Given the description of an element on the screen output the (x, y) to click on. 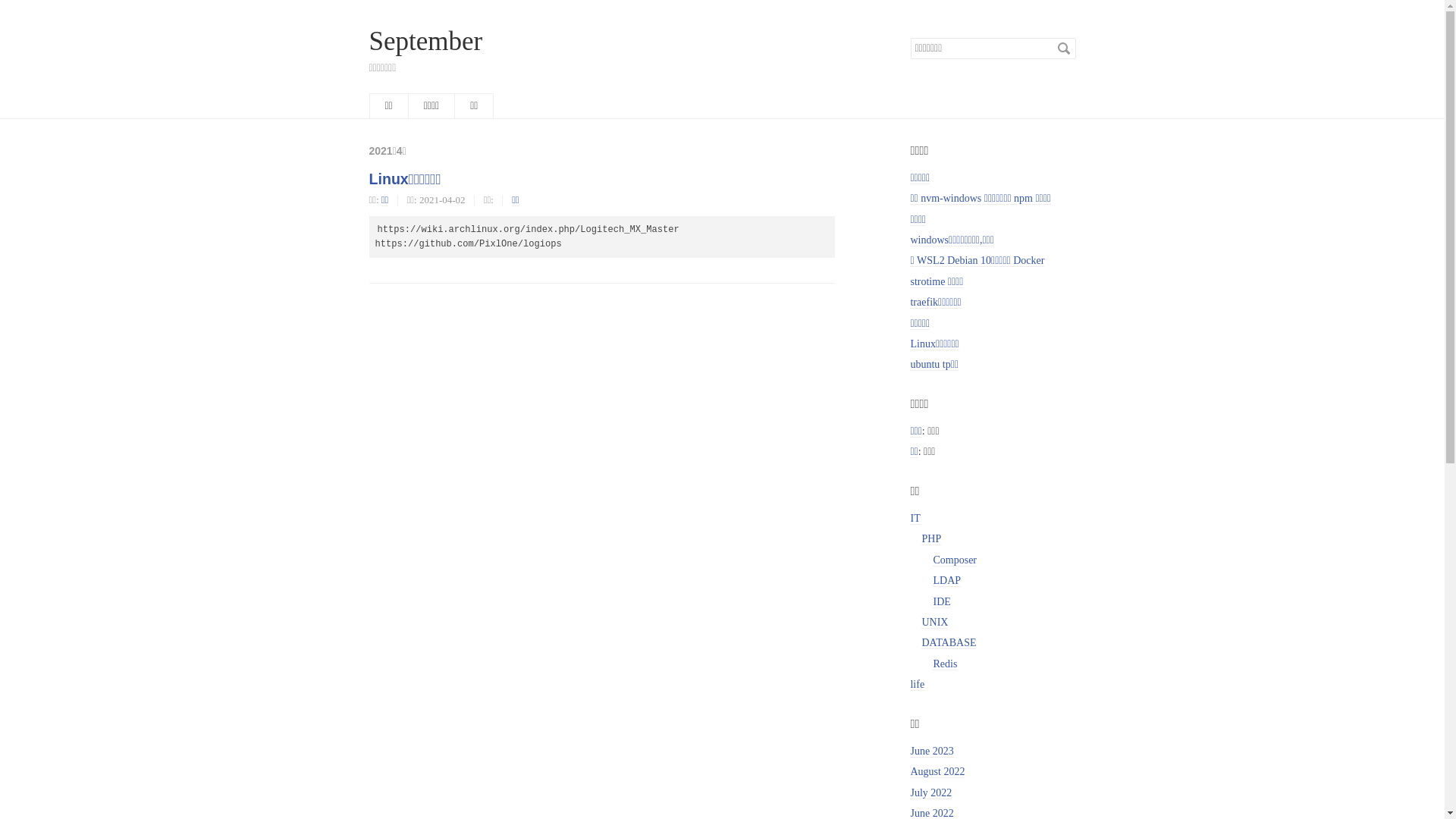
September Element type: text (425, 41)
Composer Element type: text (954, 560)
June 2023 Element type: text (931, 751)
August 2022 Element type: text (937, 771)
LDAP Element type: text (946, 580)
IT Element type: text (914, 518)
life Element type: text (917, 684)
IDE Element type: text (941, 602)
July 2022 Element type: text (930, 793)
Redis Element type: text (944, 664)
DATABASE Element type: text (948, 643)
UNIX Element type: text (934, 622)
PHP Element type: text (931, 539)
